Given the description of an element on the screen output the (x, y) to click on. 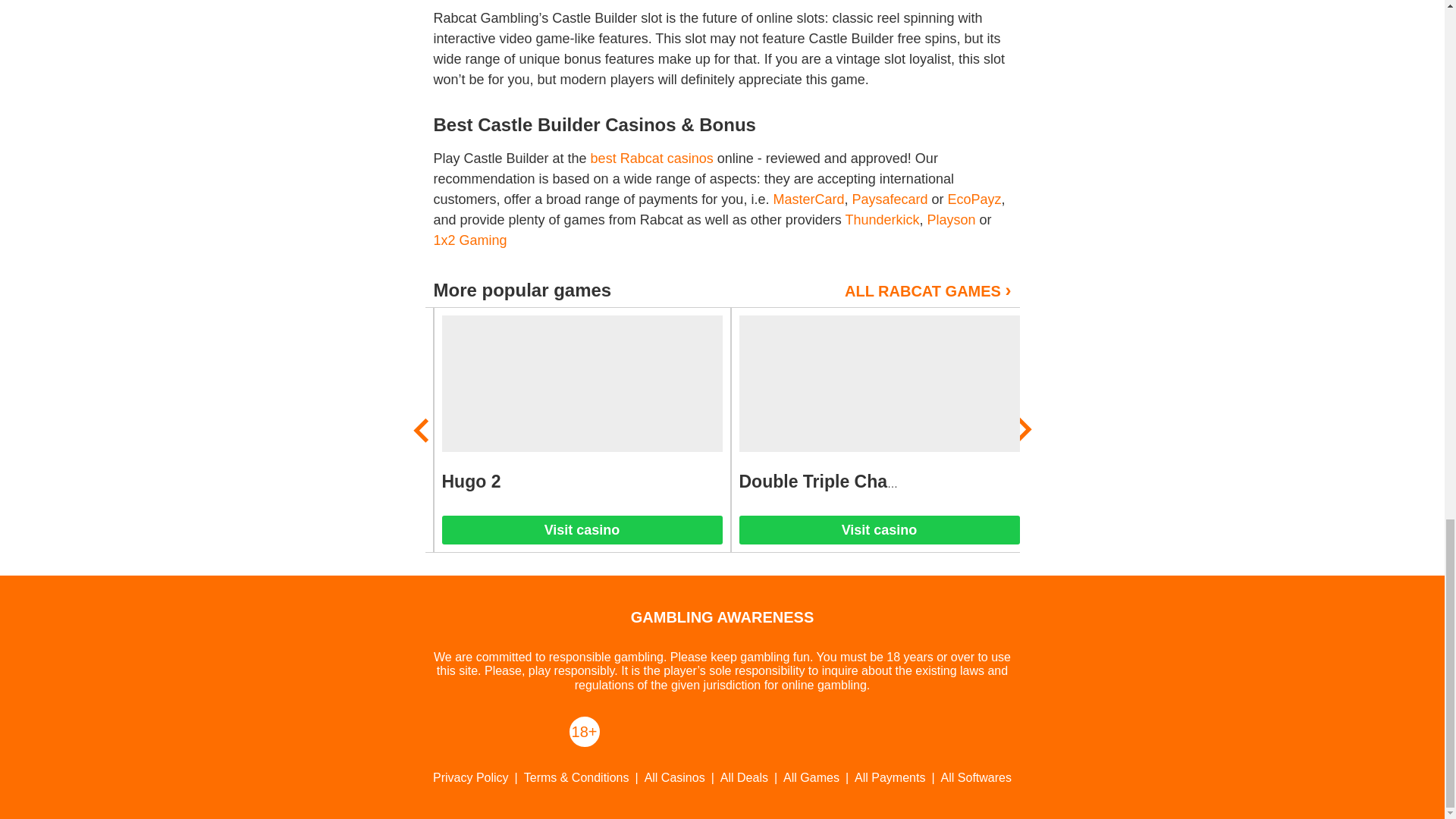
Paysafecard Online Casinos (889, 199)
EcoPayz Online Casinos (974, 199)
1x2 Gaming Online Casinos (469, 240)
Playson Online Casinos (951, 219)
Playtech Online Casinos (398, 481)
Thunderkick Online Casinos (881, 219)
MasterCard Online Casinos (808, 199)
